Given the description of an element on the screen output the (x, y) to click on. 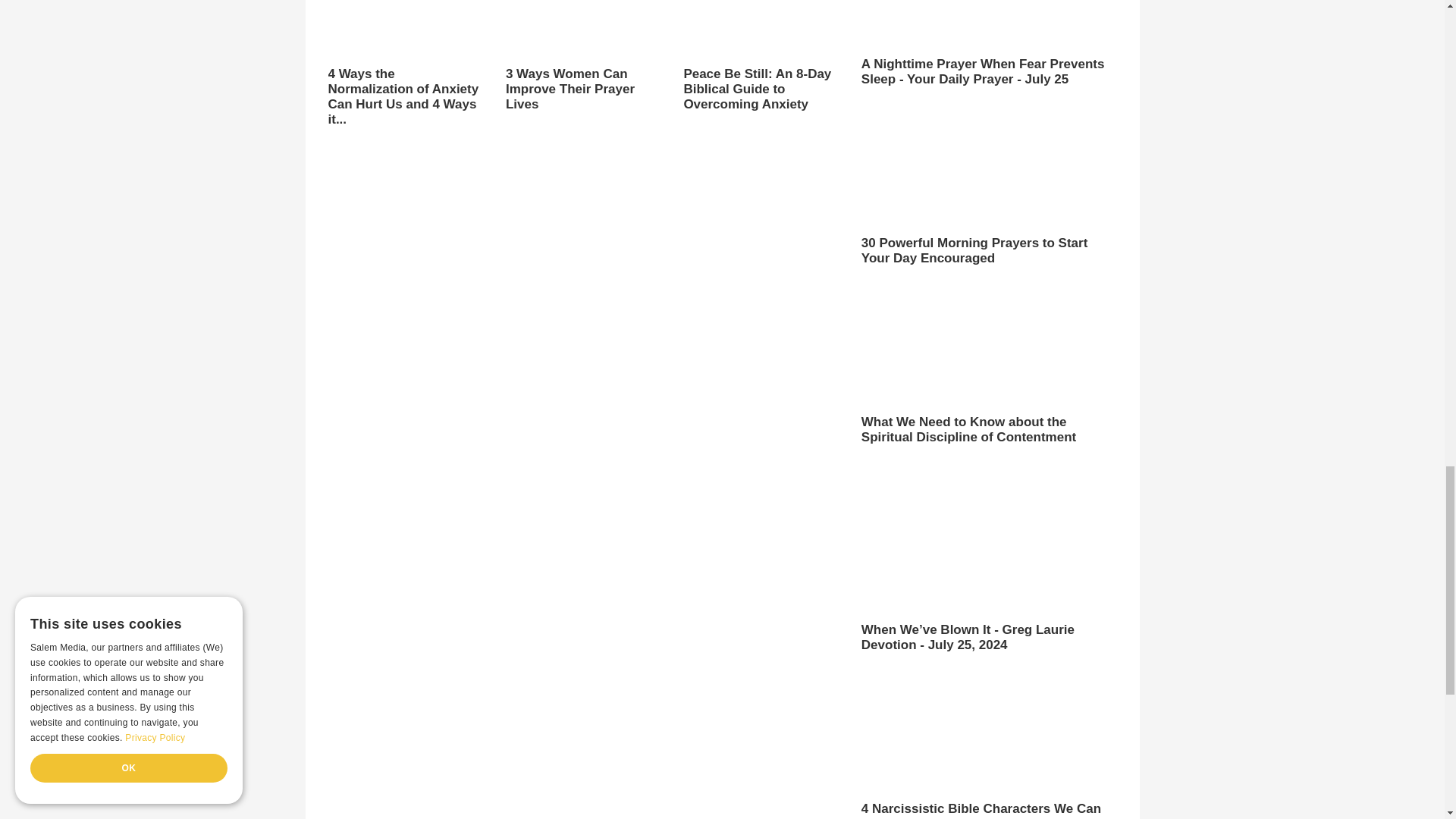
3 Ways Women Can Improve Their Prayer Lives (583, 56)
